Given the description of an element on the screen output the (x, y) to click on. 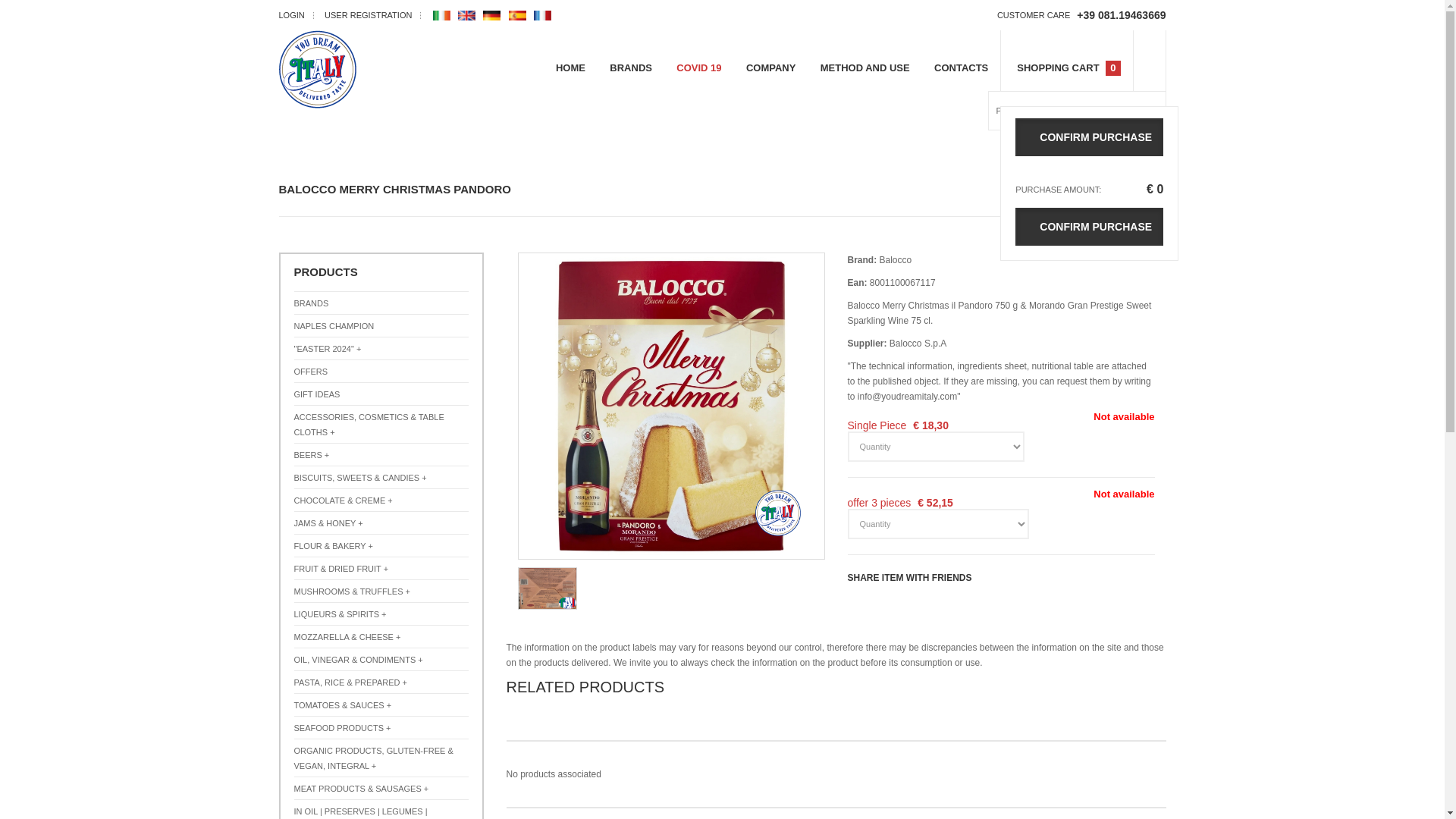
COMPANY (770, 68)
back (1142, 192)
Login  (291, 14)
COVID 19 (698, 68)
Product Search (1077, 110)
Spanish (519, 14)
User Registration (368, 14)
English (468, 14)
Deutsch (493, 14)
LOGIN (291, 14)
CONFIRM PURCHASE (1088, 136)
BRANDS (381, 303)
NAPLES CHAMPION (381, 325)
SHOPPING CART 0 (1066, 68)
CONFIRM PURCHASE (1088, 226)
